Given the description of an element on the screen output the (x, y) to click on. 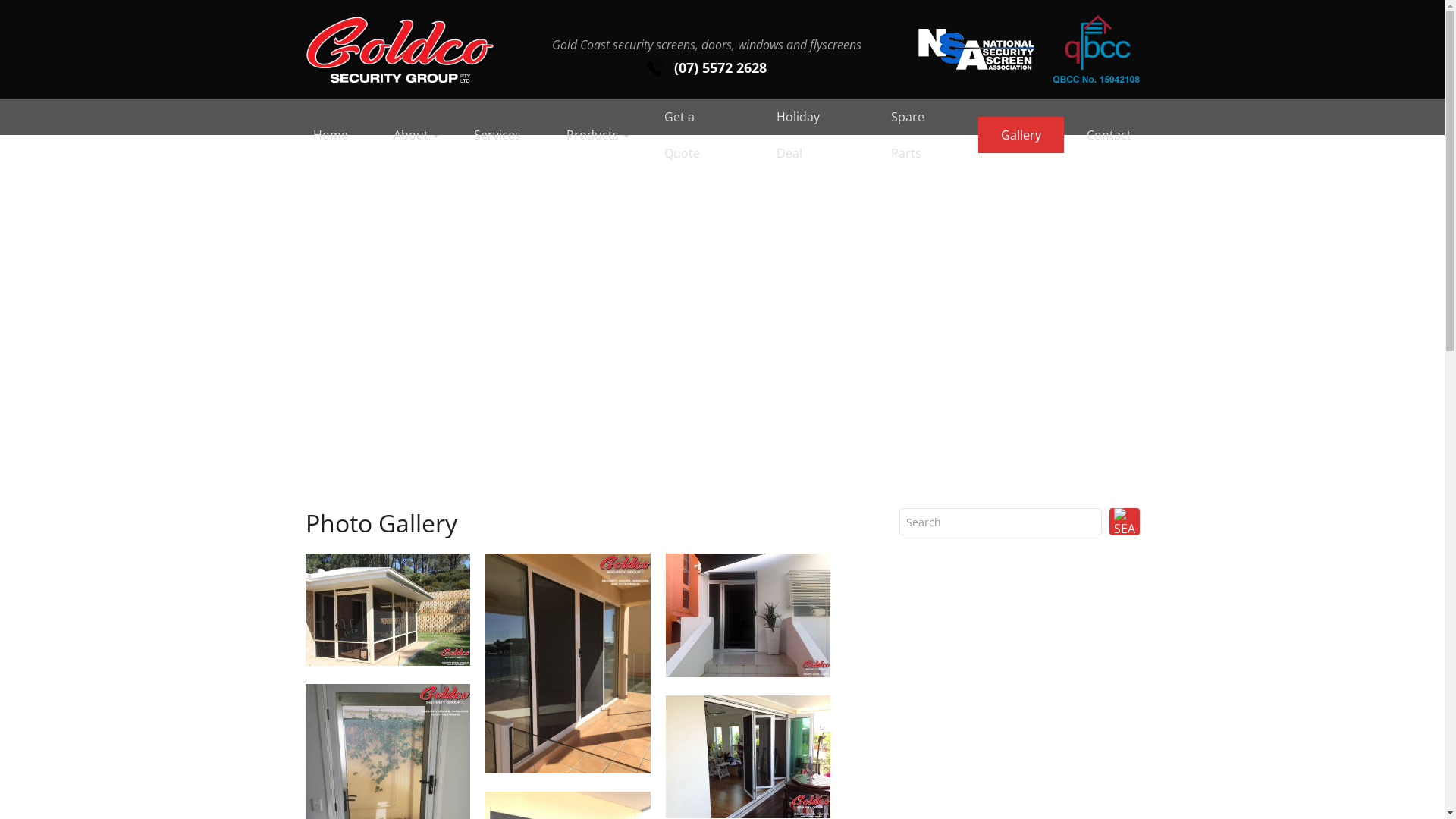
Services Element type: text (496, 134)
(07) 5572 2628 Element type: text (705, 67)
Get a Quote Element type: text (697, 134)
Gallery Element type: text (1020, 134)
Contact Element type: text (1108, 134)
Home Element type: text (329, 134)
Holiday Deal Element type: text (811, 134)
Products Element type: text (591, 134)
About Element type: text (410, 134)
Spare Parts Element type: text (923, 134)
